Given the description of an element on the screen output the (x, y) to click on. 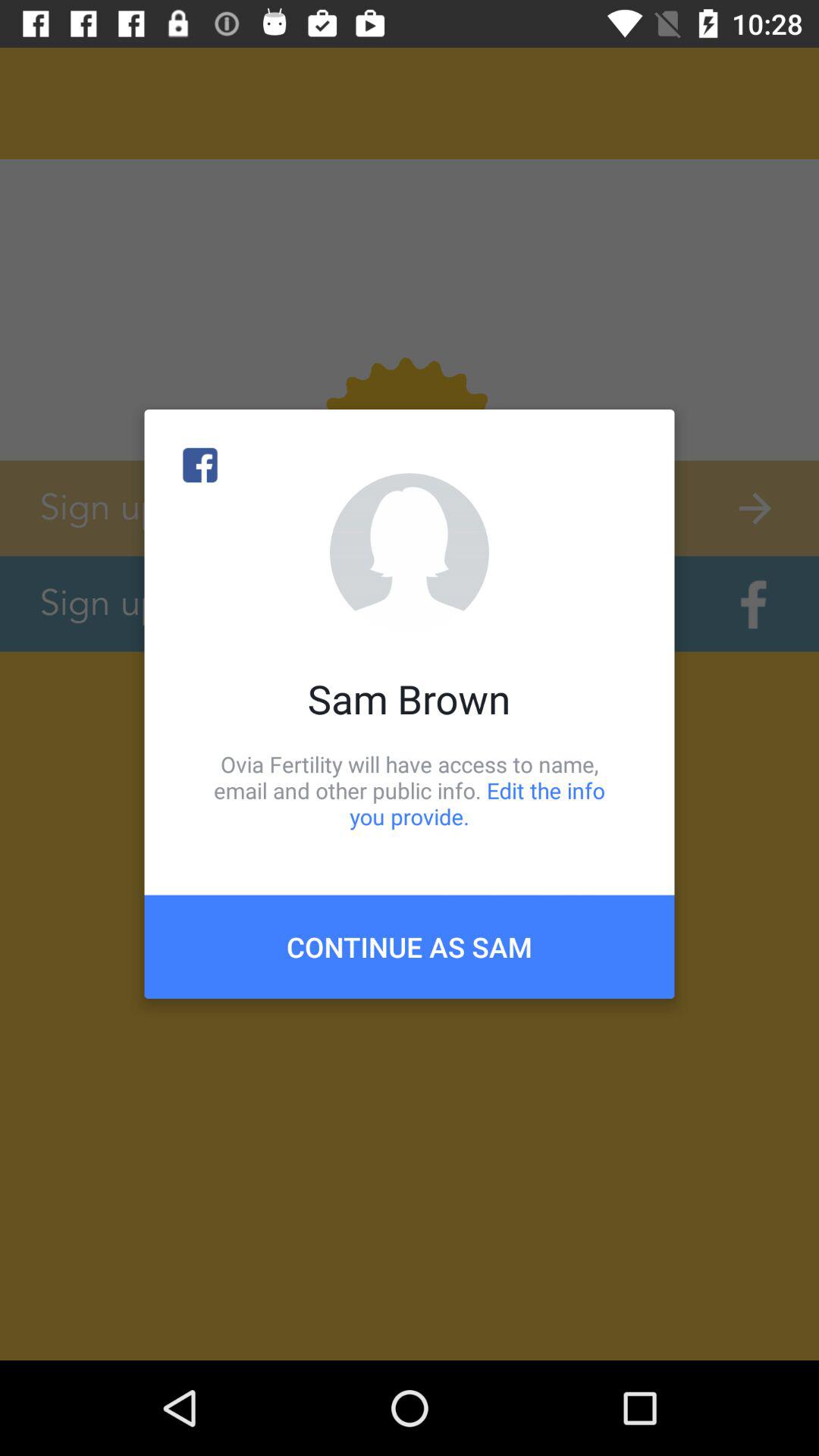
open icon below the ovia fertility will item (409, 946)
